Given the description of an element on the screen output the (x, y) to click on. 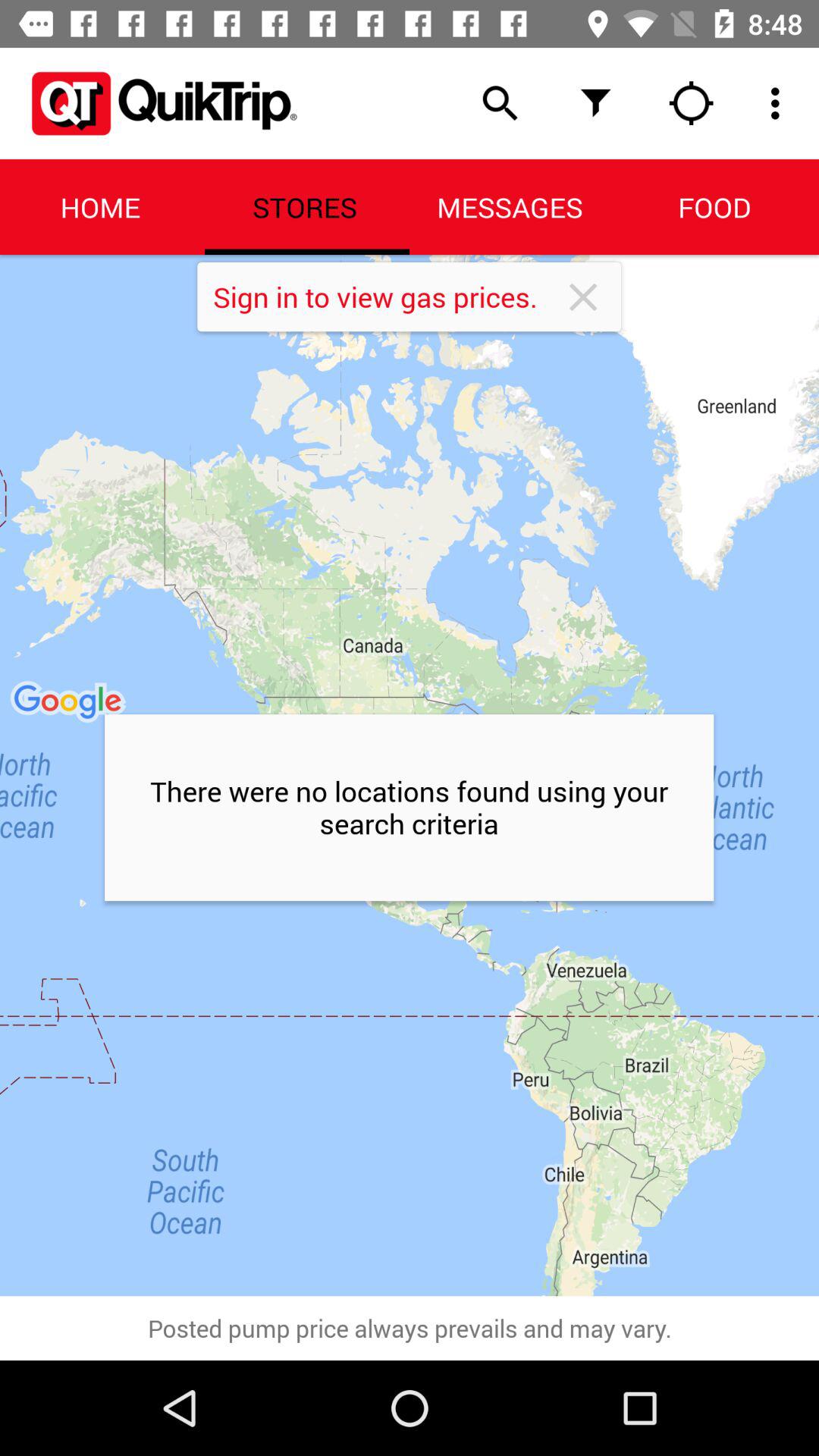
flip to sign in to (387, 296)
